Given the description of an element on the screen output the (x, y) to click on. 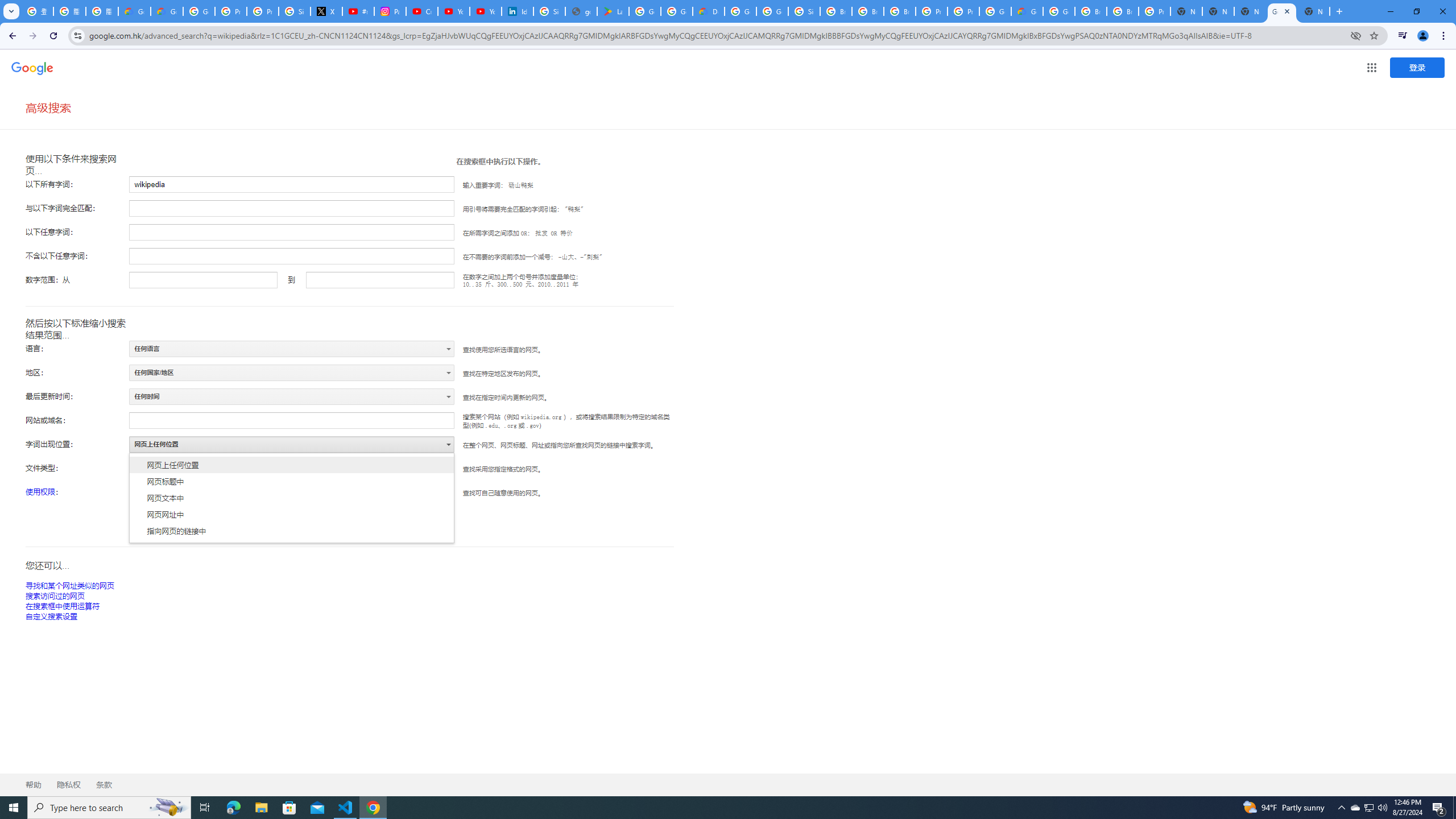
Browse Chrome as a guest - Computer - Google Chrome Help (1091, 11)
Sign in - Google Accounts (549, 11)
New Tab (1313, 11)
Browse Chrome as a guest - Computer - Google Chrome Help (899, 11)
